Given the description of an element on the screen output the (x, y) to click on. 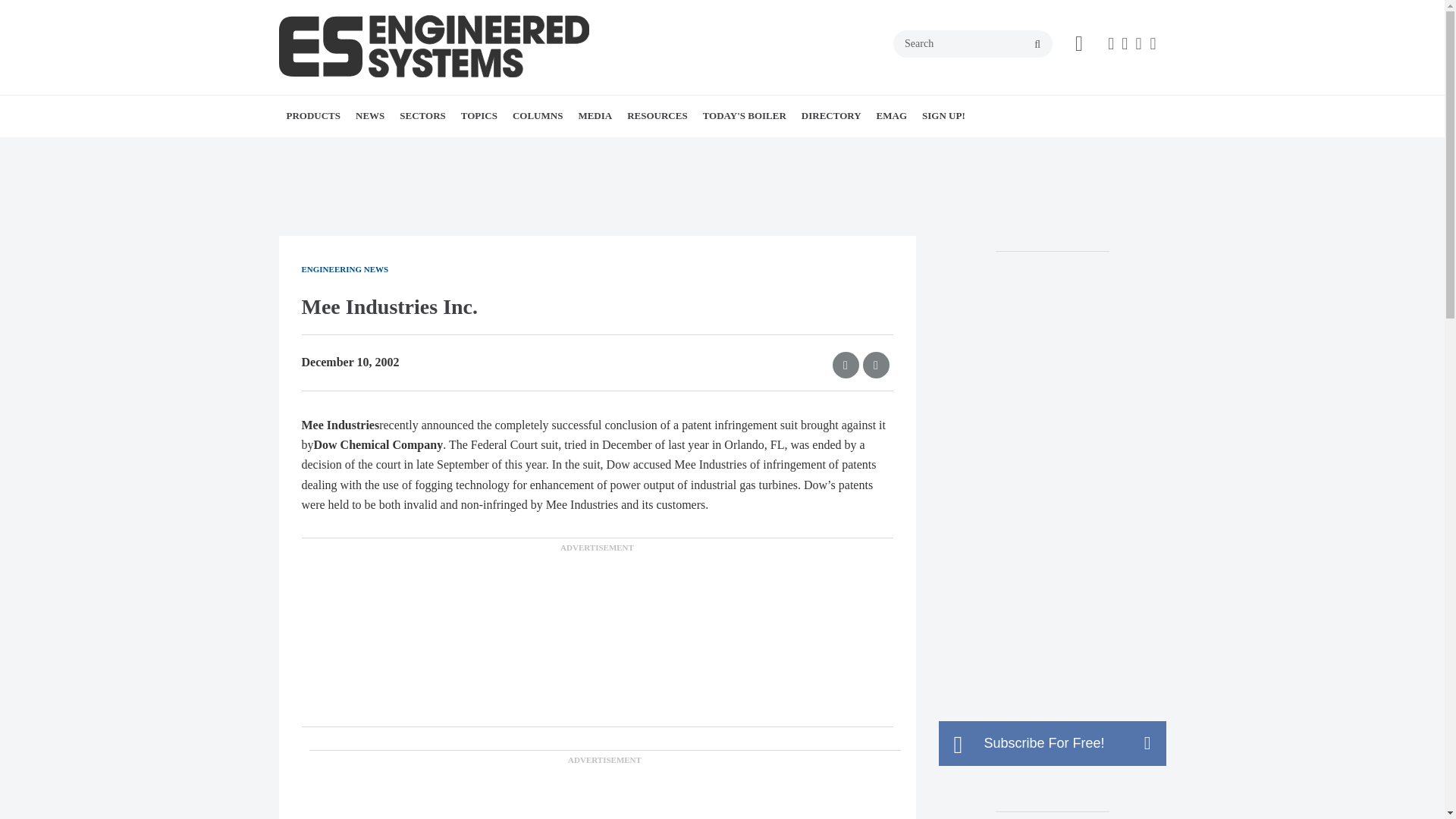
COMMISSIONING (606, 149)
MISSION CRITICAL (517, 149)
SECTORS (421, 115)
K-12 (515, 149)
VENTILATION (592, 149)
HEALTH CARE (504, 149)
LIFE SAFETY (577, 149)
Search (972, 43)
COMMERCIAL (493, 149)
Search (972, 43)
search (1037, 44)
TOPICS (478, 115)
IAQ (574, 149)
CASE IN POINT (599, 149)
HOSPITALITY (509, 149)
